Given the description of an element on the screen output the (x, y) to click on. 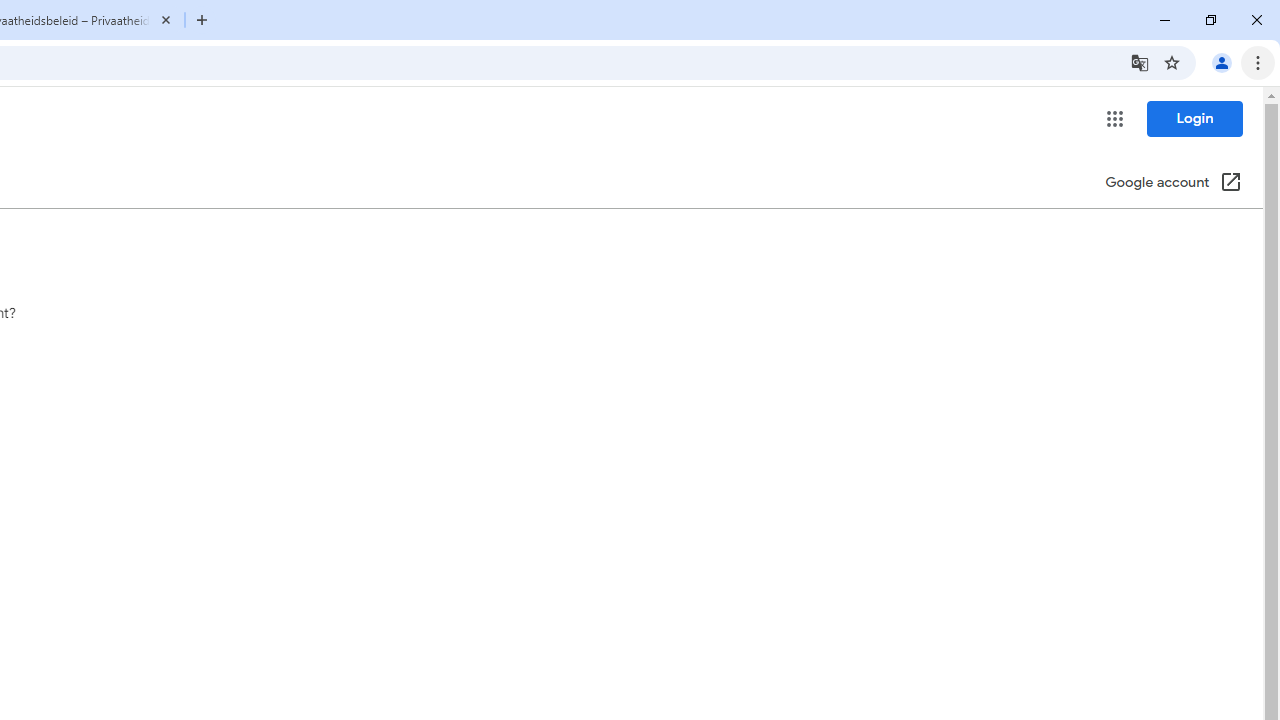
Translate this page (1139, 62)
Login (1194, 118)
Google Account (Opens in new window) (1173, 183)
